Given the description of an element on the screen output the (x, y) to click on. 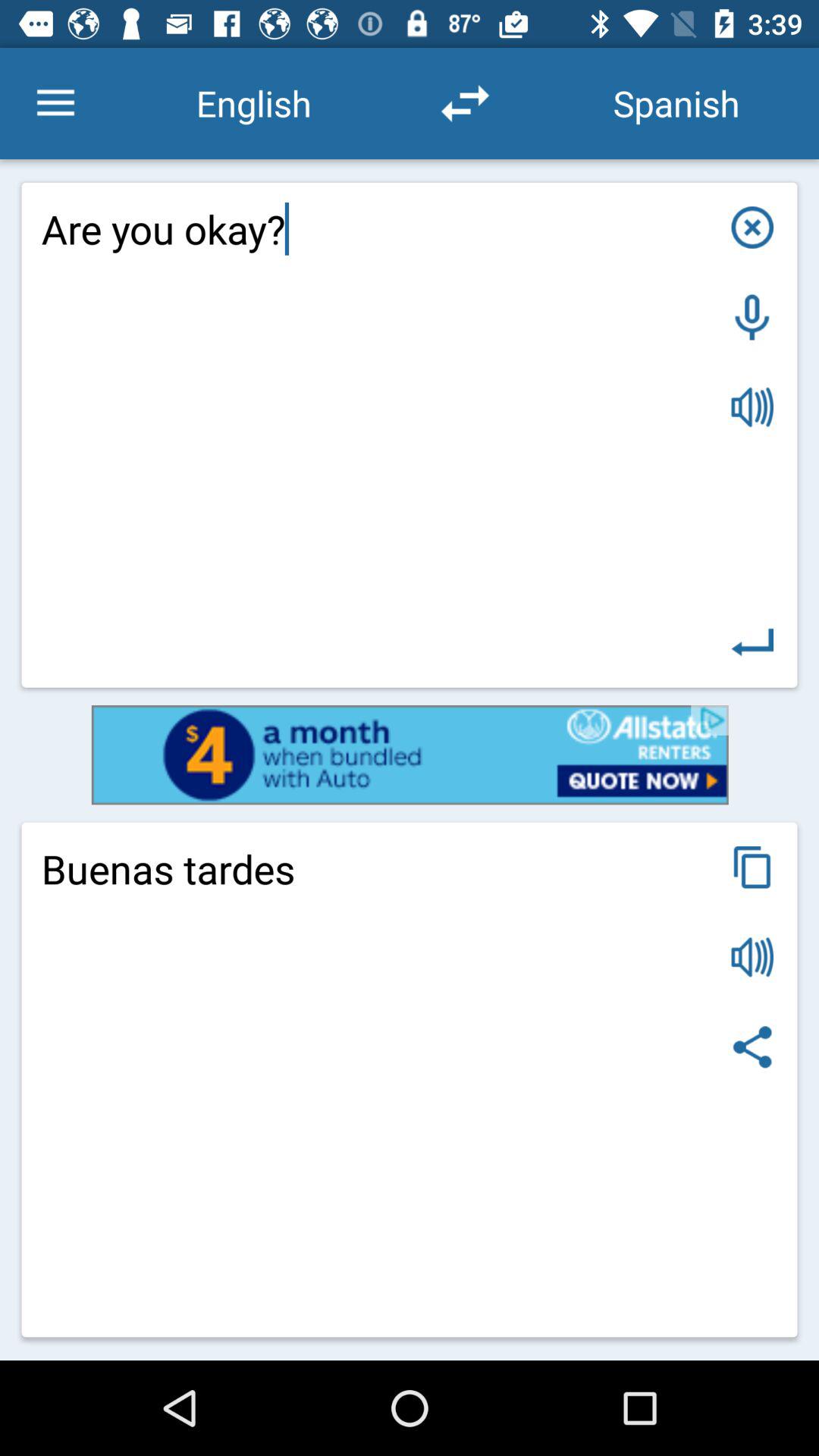
go to next line (752, 642)
